Given the description of an element on the screen output the (x, y) to click on. 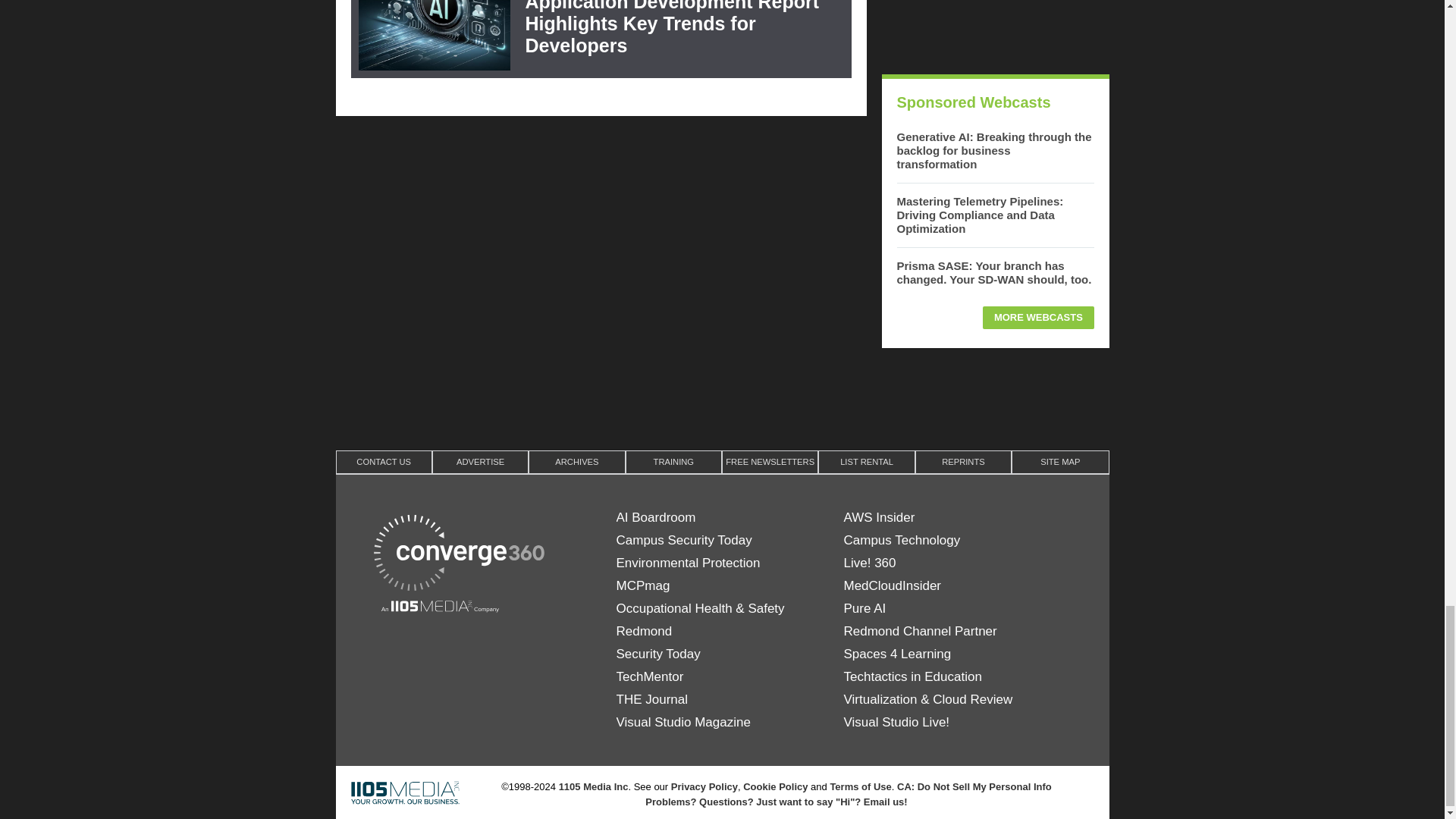
3rd party ad content (994, 29)
3rd party ad content (721, 397)
